Given the description of an element on the screen output the (x, y) to click on. 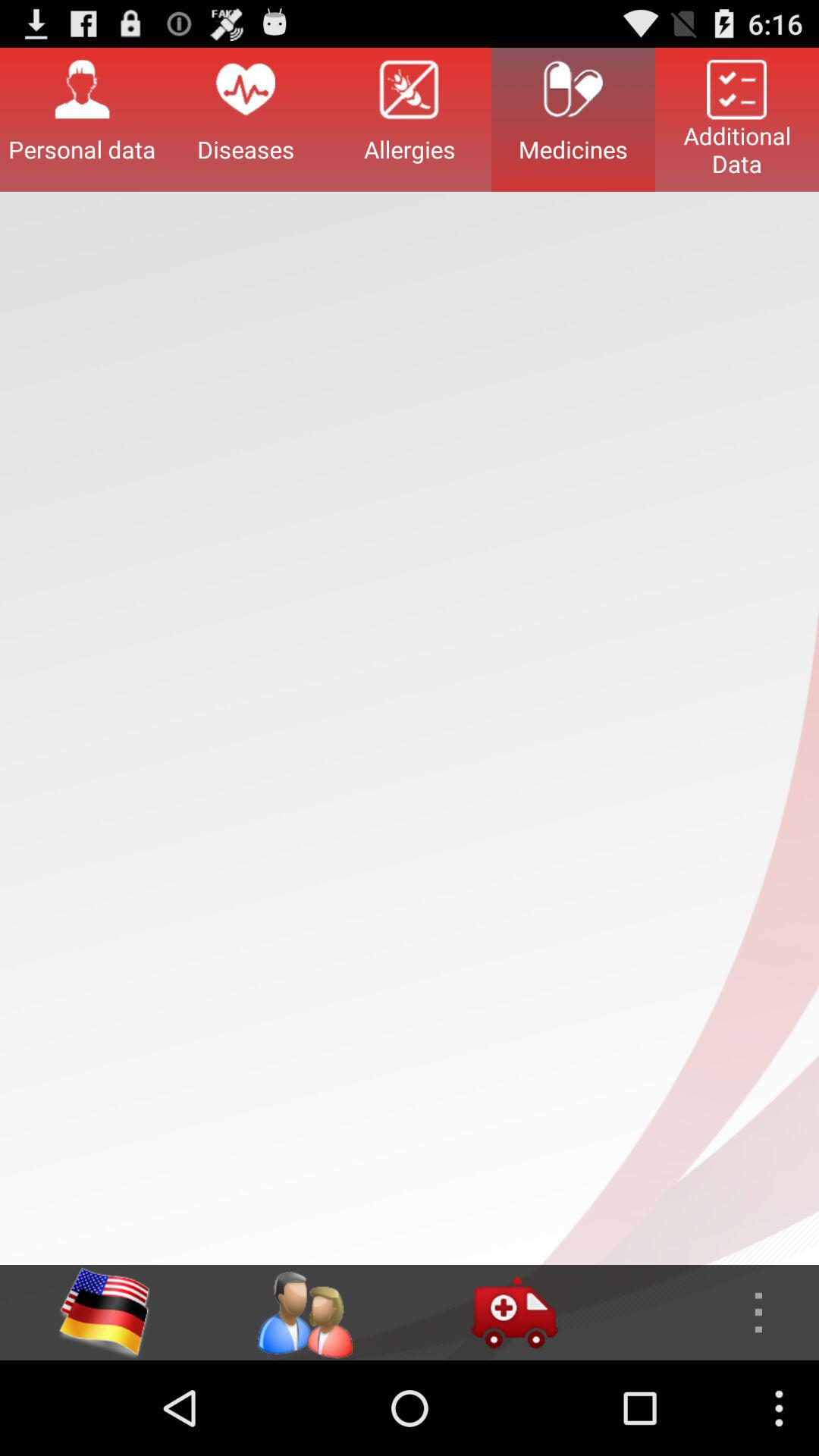
open the item next to the allergies (573, 119)
